Given the description of an element on the screen output the (x, y) to click on. 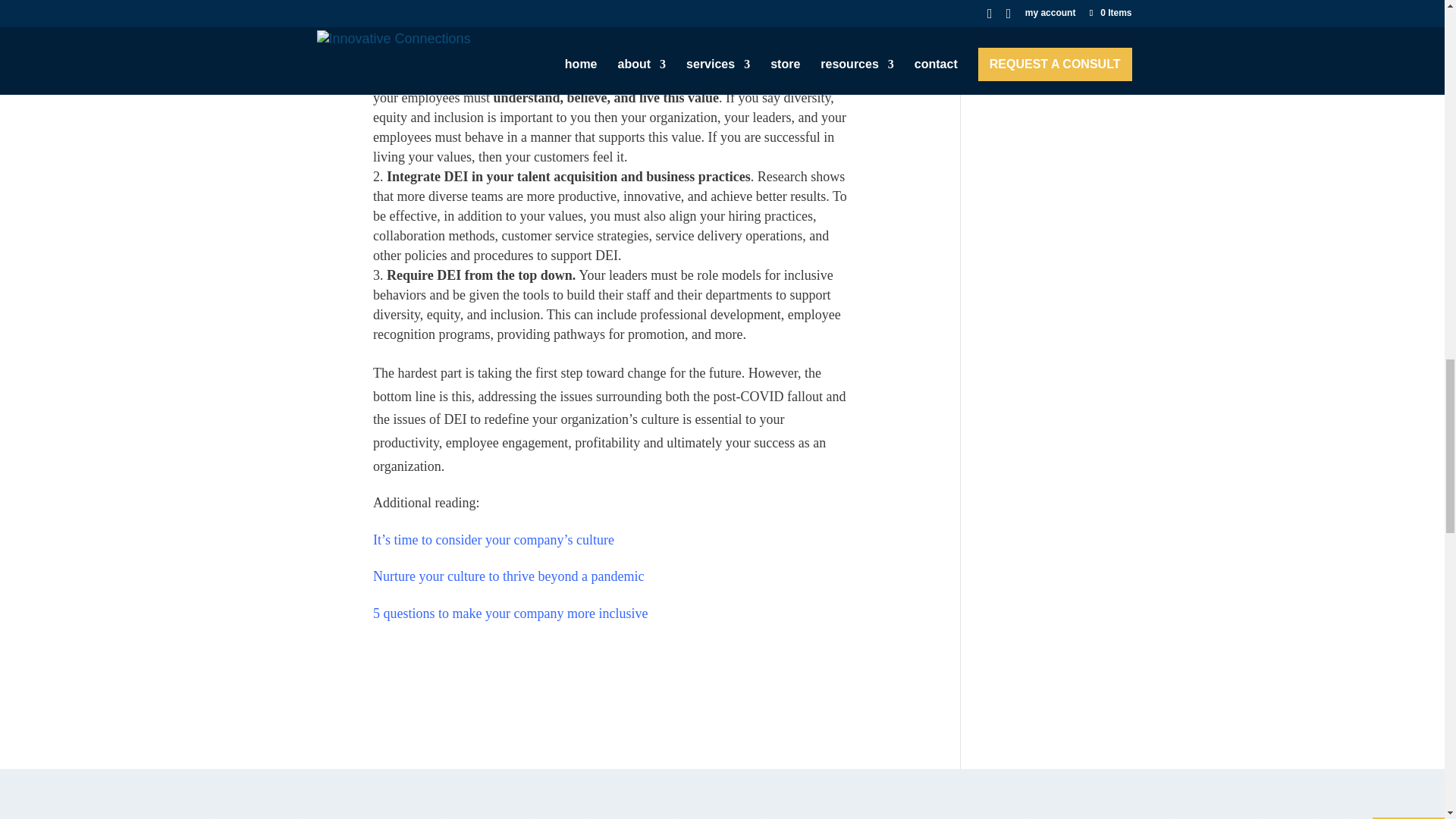
Nurture your culture to thrive beyond a pandemic (507, 575)
5 questions to make your company more inclusive (509, 613)
